Given the description of an element on the screen output the (x, y) to click on. 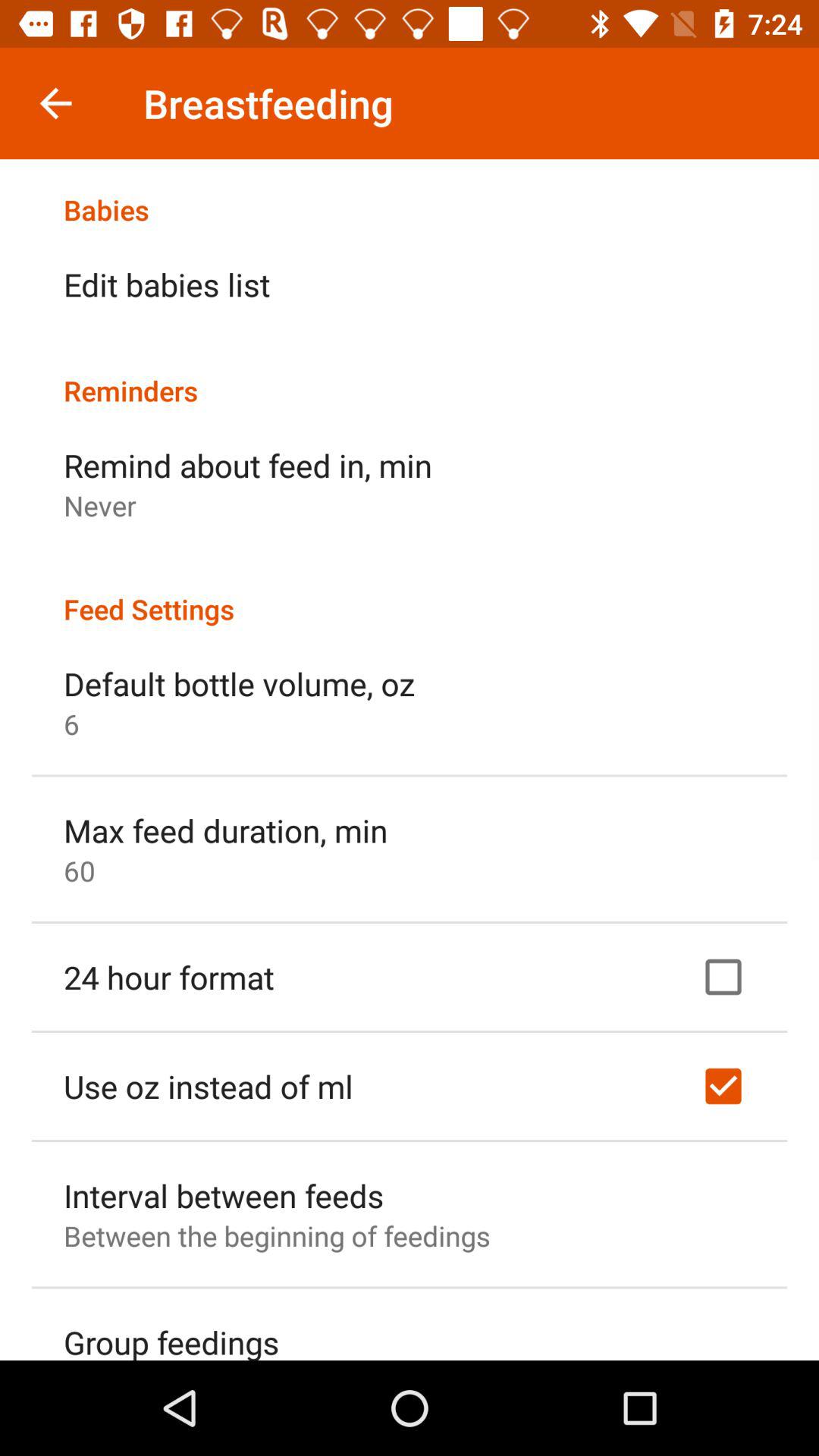
turn off item above the interval between feeds item (208, 1085)
